Given the description of an element on the screen output the (x, y) to click on. 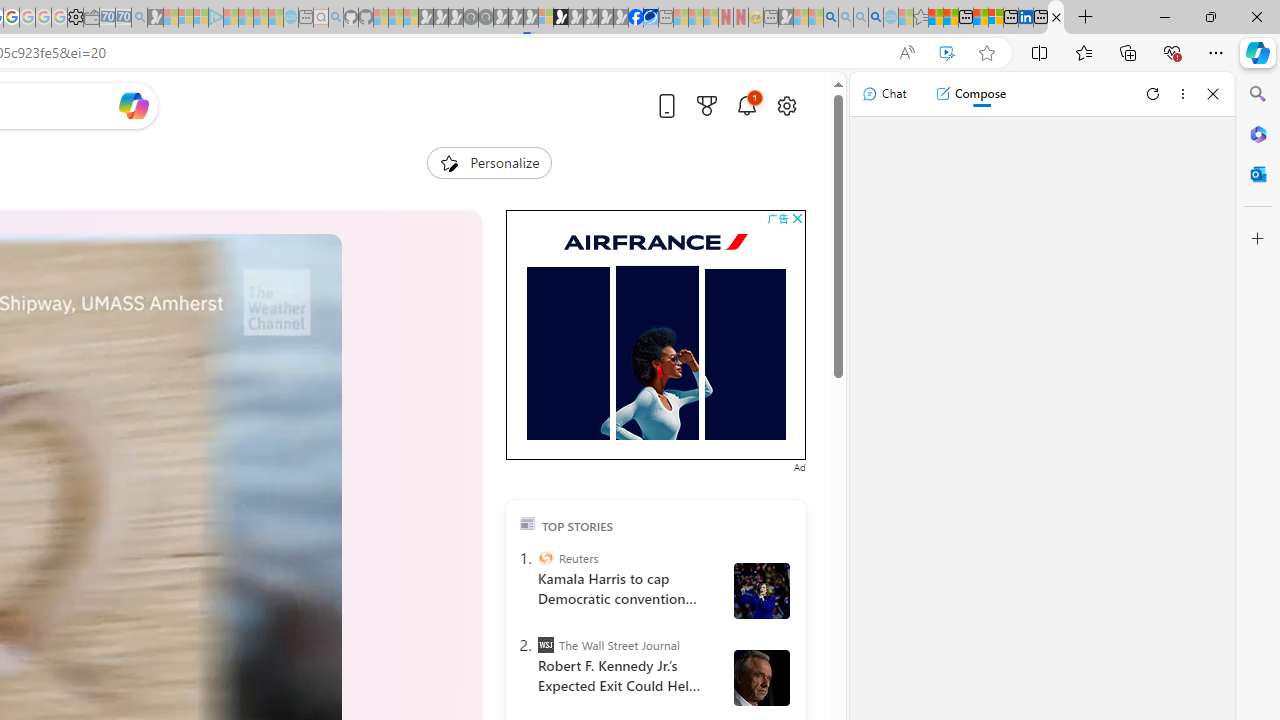
Microsoft Start Gaming - Sleeping (155, 17)
Bing AI - Search (831, 17)
Nordace | Facebook (635, 17)
github - Search - Sleeping (336, 17)
